Given the description of an element on the screen output the (x, y) to click on. 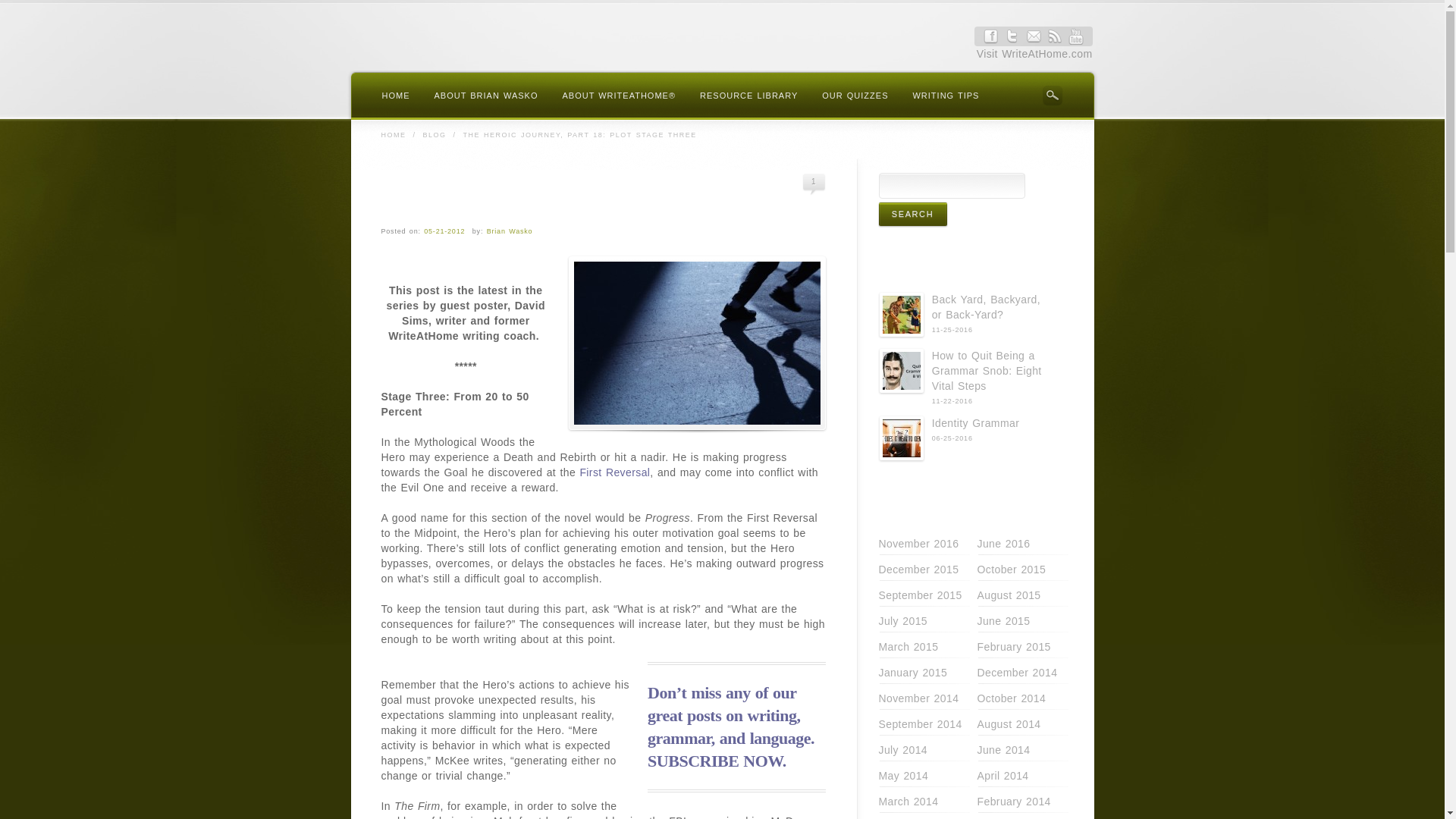
HOME (395, 96)
Brian Wasko (509, 231)
HOME (393, 134)
BLOG (434, 134)
Visit WriteAtHome.com (1034, 53)
Monday, May 21st, 2012, 10:05 am (443, 231)
SEARCH (1052, 95)
RESOURCE LIBRARY (748, 96)
ABOUT BRIAN WASKO (486, 96)
Search (911, 214)
